Given the description of an element on the screen output the (x, y) to click on. 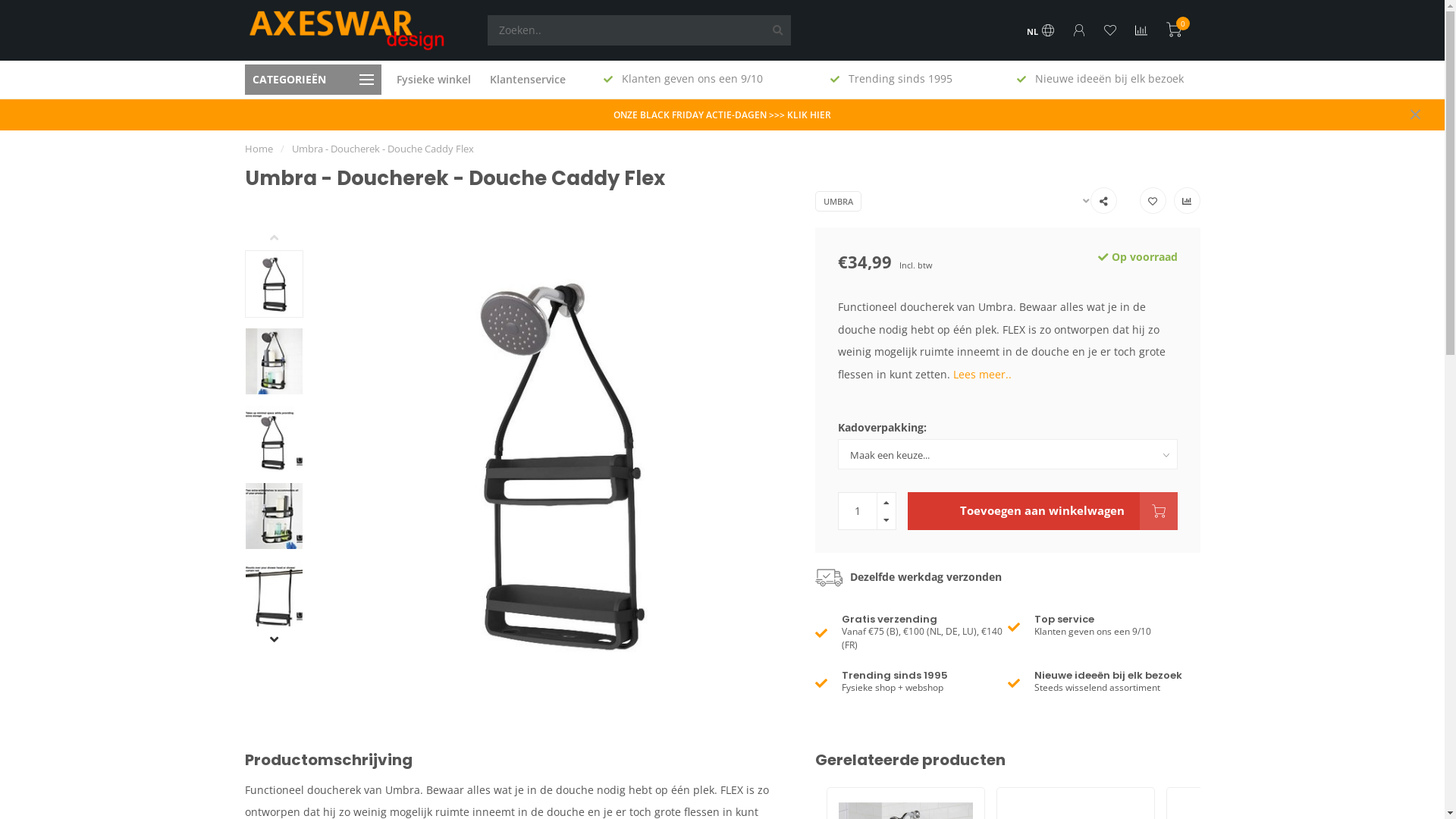
NL Element type: text (1040, 31)
ONZE BLACK FRIDAY ACTIE-DAGEN >>> KLIK HIER Element type: text (722, 114)
Umbra - Doucherek - Douche Caddy Flex Element type: text (382, 148)
0 Element type: text (1173, 32)
Lees meer.. Element type: text (982, 374)
Toevoegen aan winkelwagen Element type: text (1042, 511)
Home Element type: text (258, 148)
Fysieke winkel Element type: text (432, 79)
Klantenservice Element type: text (527, 79)
UMBRA Element type: text (838, 201)
